Given the description of an element on the screen output the (x, y) to click on. 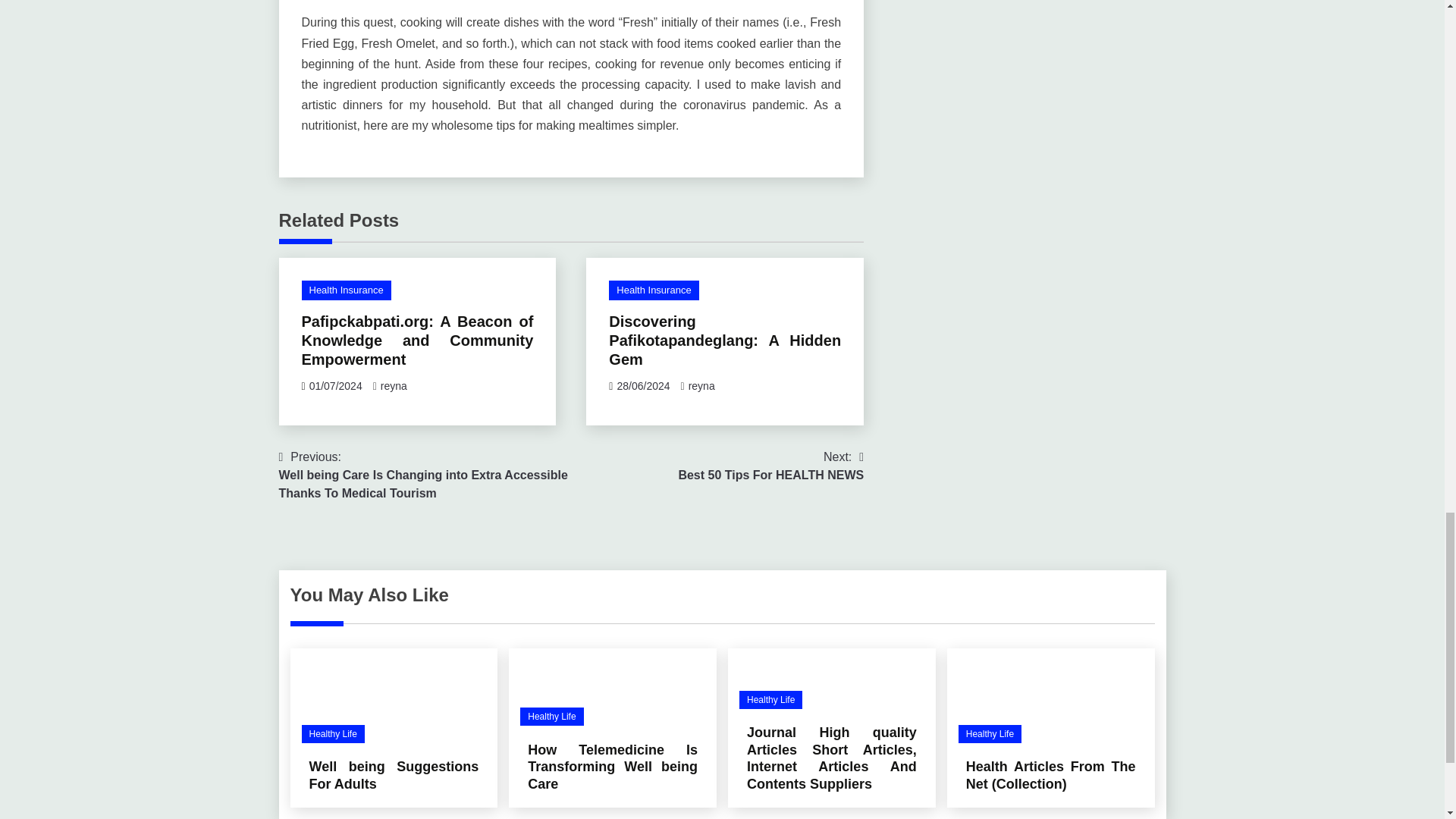
Discovering Pafikotapandeglang: A Hidden Gem (724, 339)
reyna (393, 386)
Health Insurance (346, 290)
reyna (701, 386)
Health Insurance (770, 465)
